Given the description of an element on the screen output the (x, y) to click on. 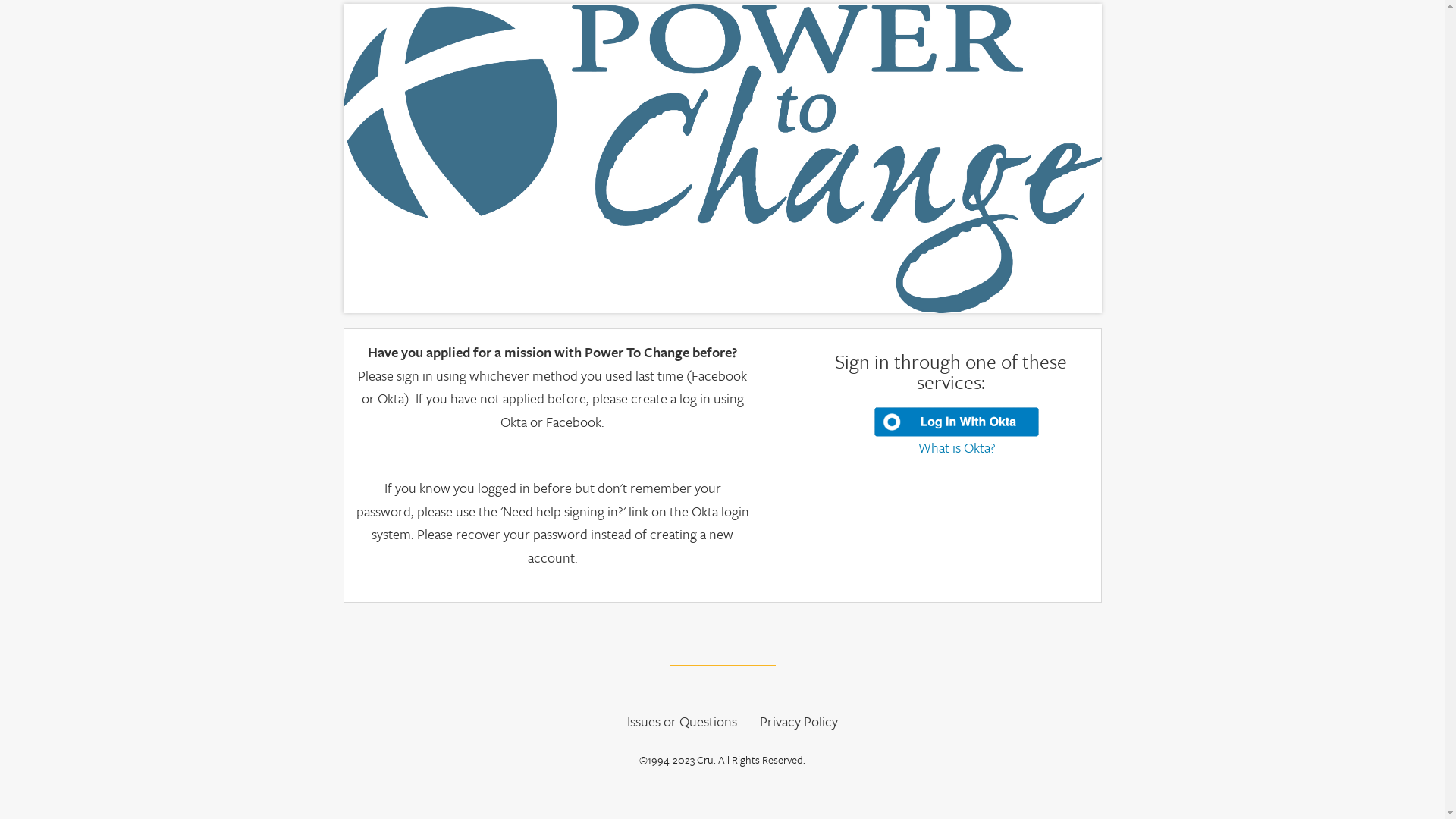
What is Okta? Element type: text (955, 447)
Privacy Policy Element type: text (798, 721)
Issues or Questions Element type: text (681, 721)
